Given the description of an element on the screen output the (x, y) to click on. 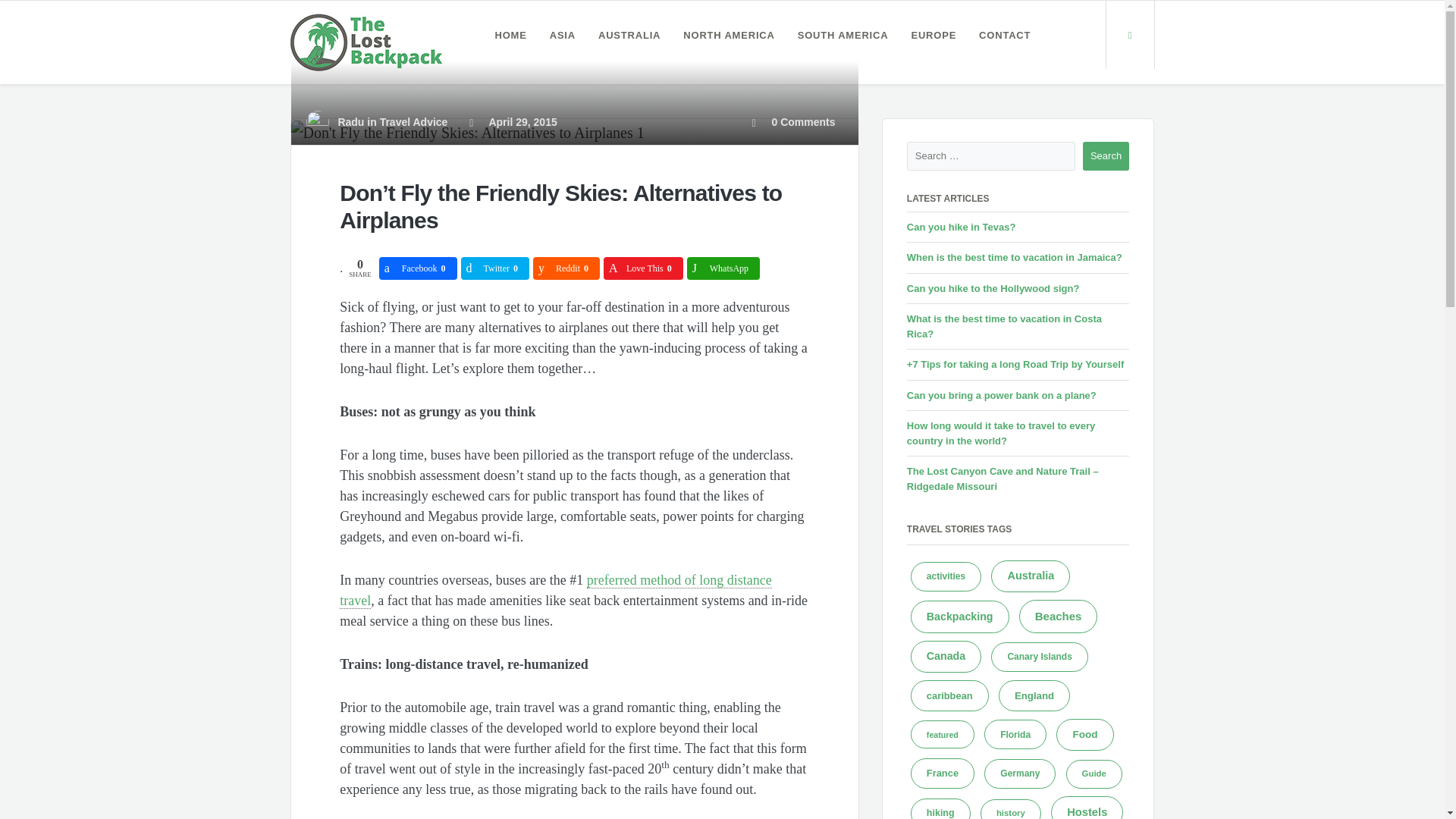
Share on Reddit (565, 268)
Love This0 (643, 268)
Radu (350, 121)
Share on Facebook (417, 268)
Don't Fly the Friendly Skies: Alternatives to Airplanes (468, 132)
Search (1106, 155)
SOUTH AMERICA (842, 34)
  April 29, 2015 (512, 121)
preferred method of long distance travel (555, 590)
Can you bring a power bank on a plane? (1001, 395)
